Given the description of an element on the screen output the (x, y) to click on. 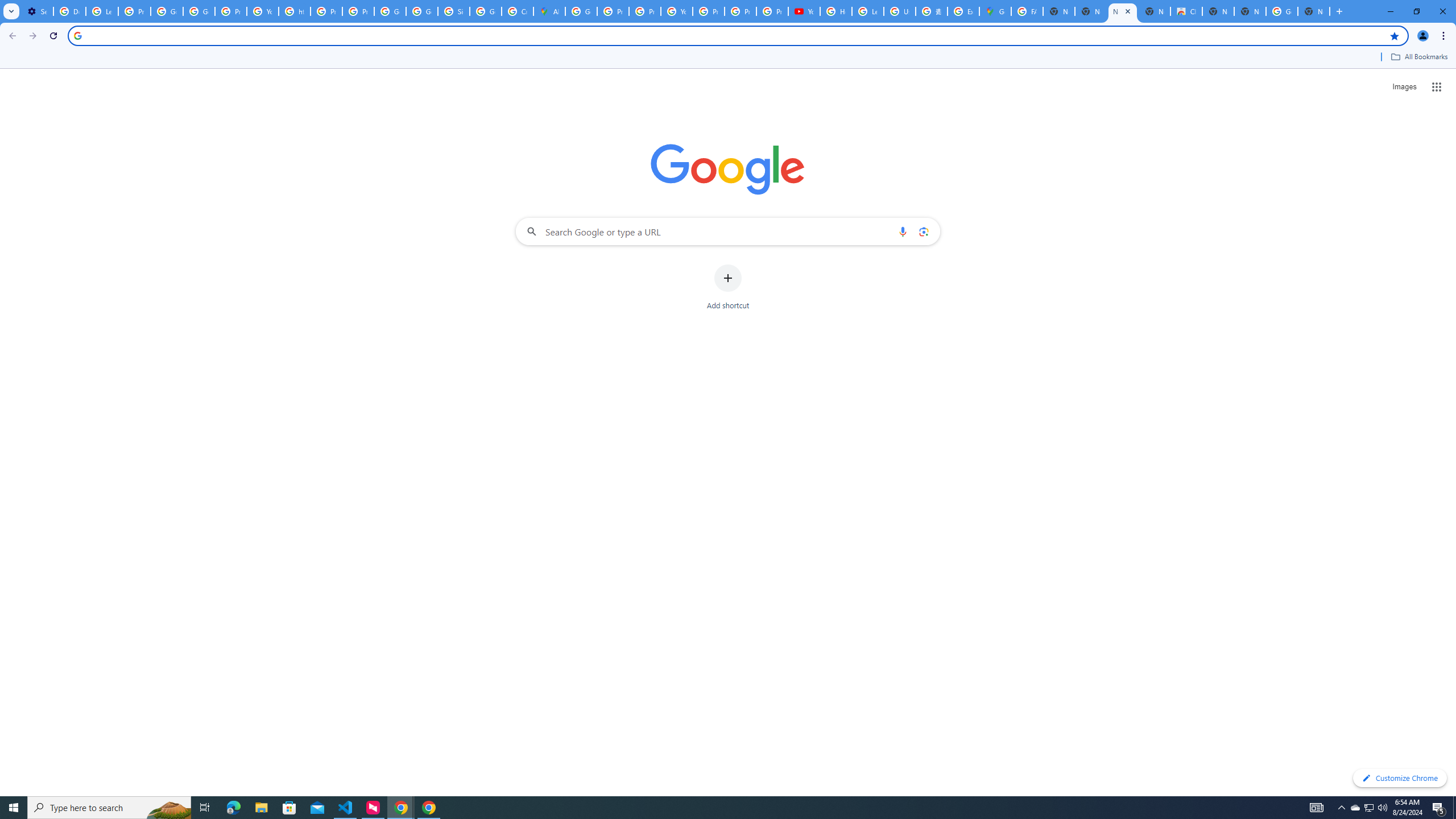
Settings - On startup (37, 11)
https://scholar.google.com/ (294, 11)
YouTube (804, 11)
Privacy Checkup (740, 11)
How Chrome protects your passwords - Google Chrome Help (836, 11)
YouTube (676, 11)
Chrome Web Store (1185, 11)
Create your Google Account (517, 11)
